Given the description of an element on the screen output the (x, y) to click on. 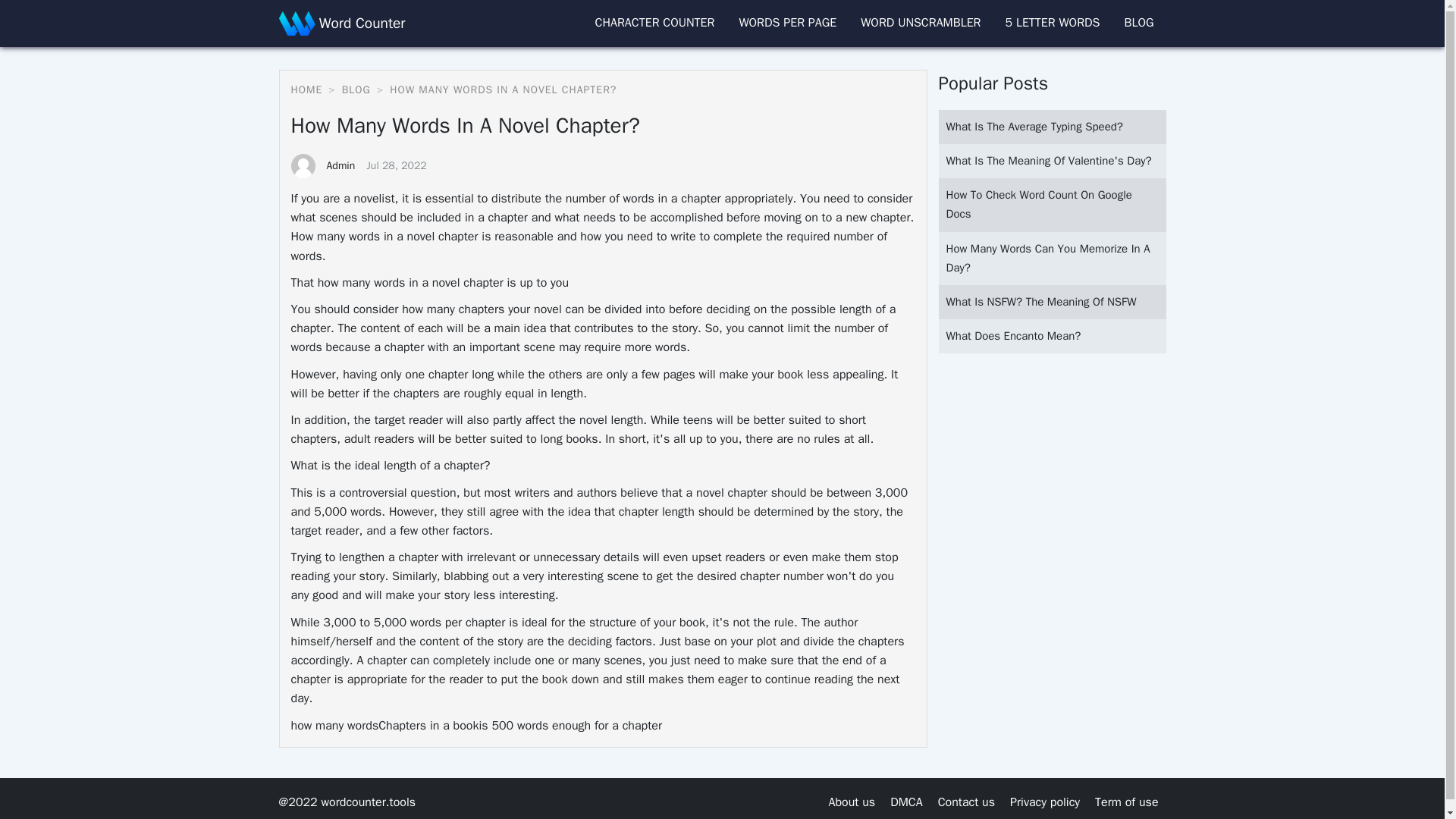
What Is The Meaning Of Valentine'S Day? (1048, 160)
Privacy policy (1045, 802)
Word Counter (342, 23)
CHARACTER COUNTER (654, 22)
DMCA (906, 802)
BLOG (346, 89)
Contact us (966, 802)
What Does Encanto Mean? (1013, 336)
WORDS PER PAGE (787, 22)
WORD UNSCRAMBLER (920, 22)
